Given the description of an element on the screen output the (x, y) to click on. 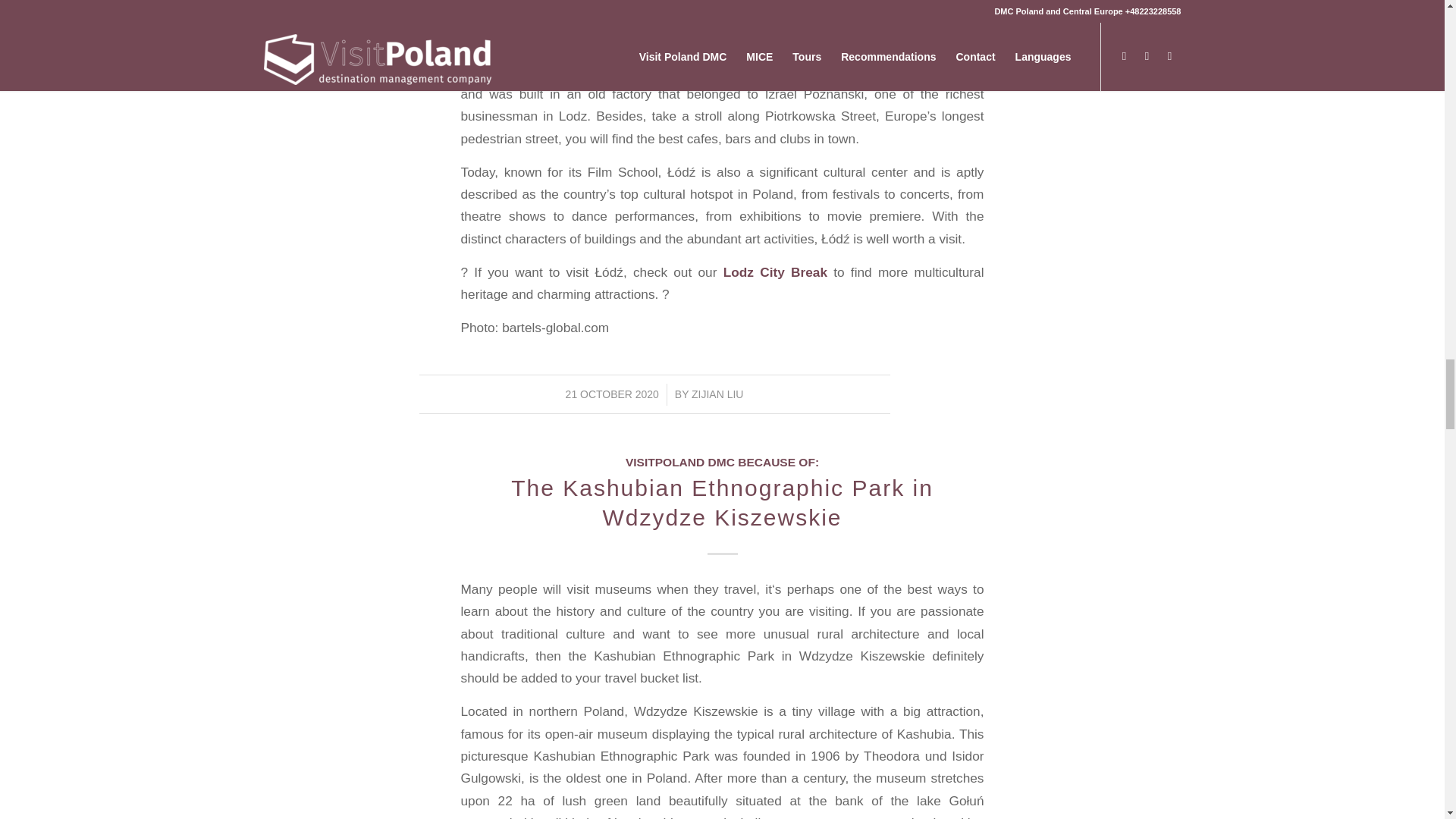
The Kashubian Ethnographic Park in Wdzydze Kiszewskie (722, 502)
Lodz City Break (774, 272)
ZIJIAN LIU (716, 394)
VISITPOLAND DMC BECAUSE OF: (722, 461)
